Given the description of an element on the screen output the (x, y) to click on. 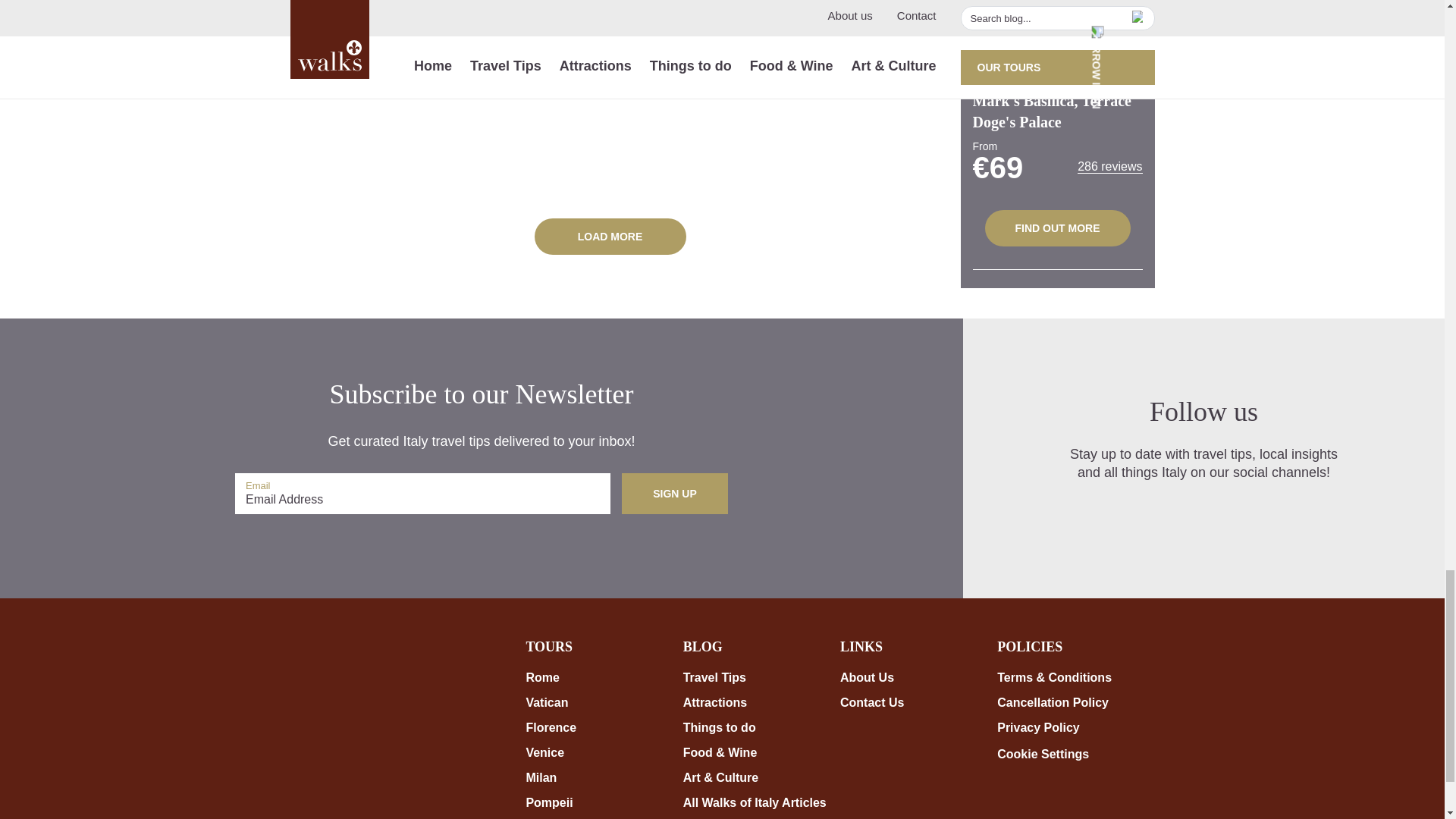
Sign up (674, 493)
